Given the description of an element on the screen output the (x, y) to click on. 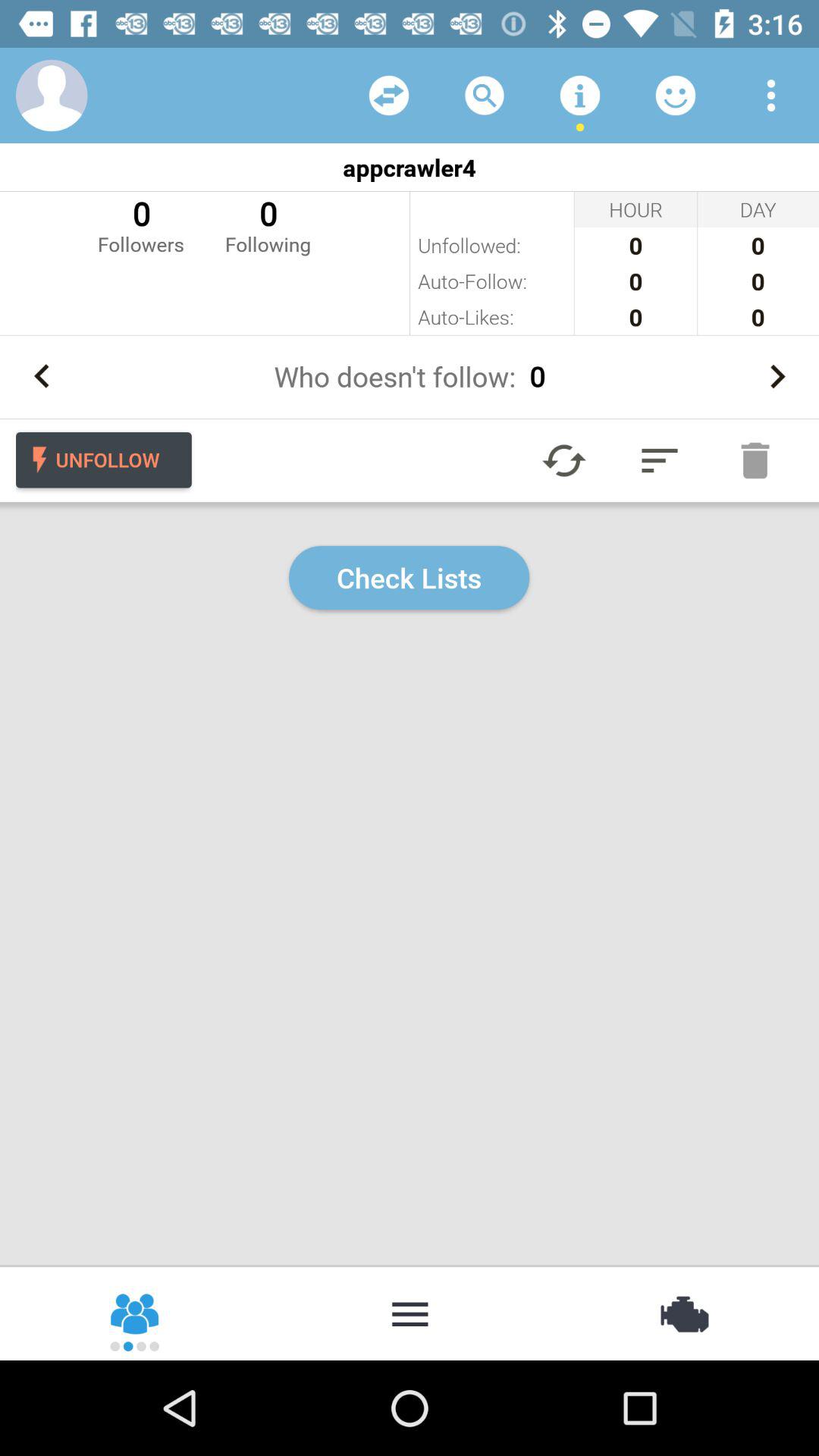
switch trash option (755, 460)
